Given the description of an element on the screen output the (x, y) to click on. 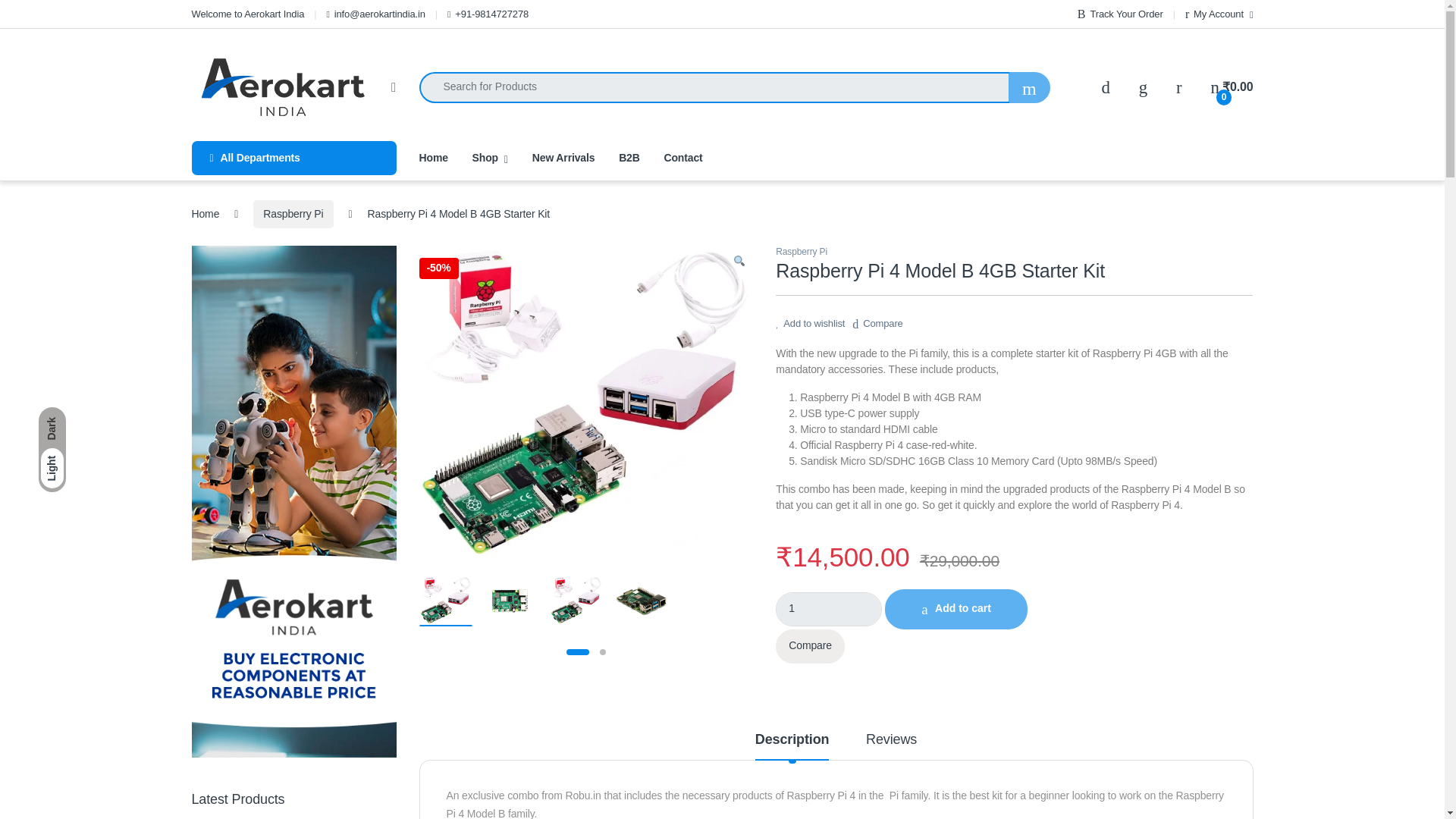
Welcome to Aerokart India (247, 13)
My Account (1219, 13)
My Account (1219, 13)
1 (829, 609)
Welcome to Aerokart India (247, 13)
Track Your Order (1120, 13)
Track Your Order (1120, 13)
